Given the description of an element on the screen output the (x, y) to click on. 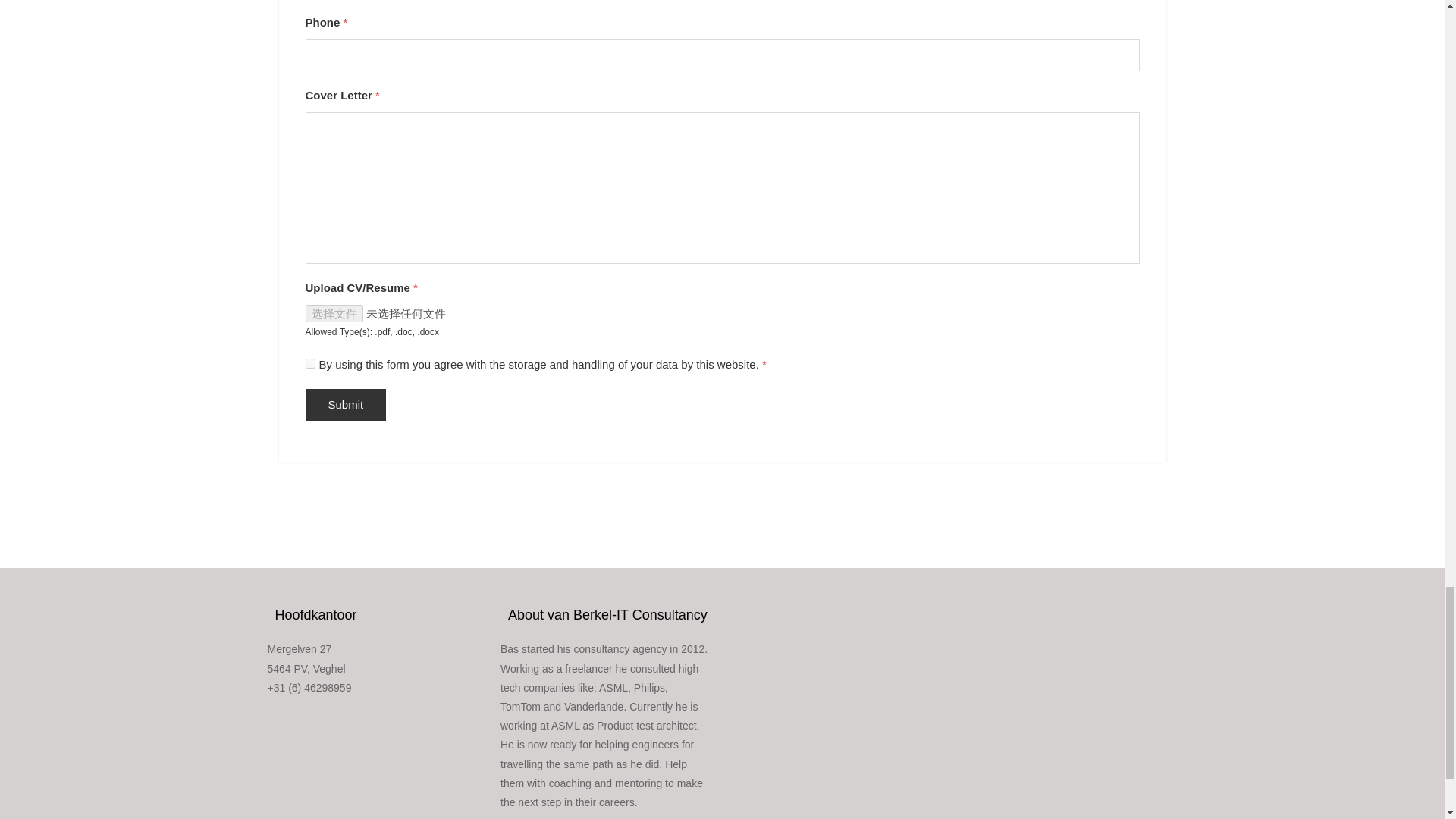
Submit (344, 404)
yes (309, 363)
Submit (344, 404)
